Given the description of an element on the screen output the (x, y) to click on. 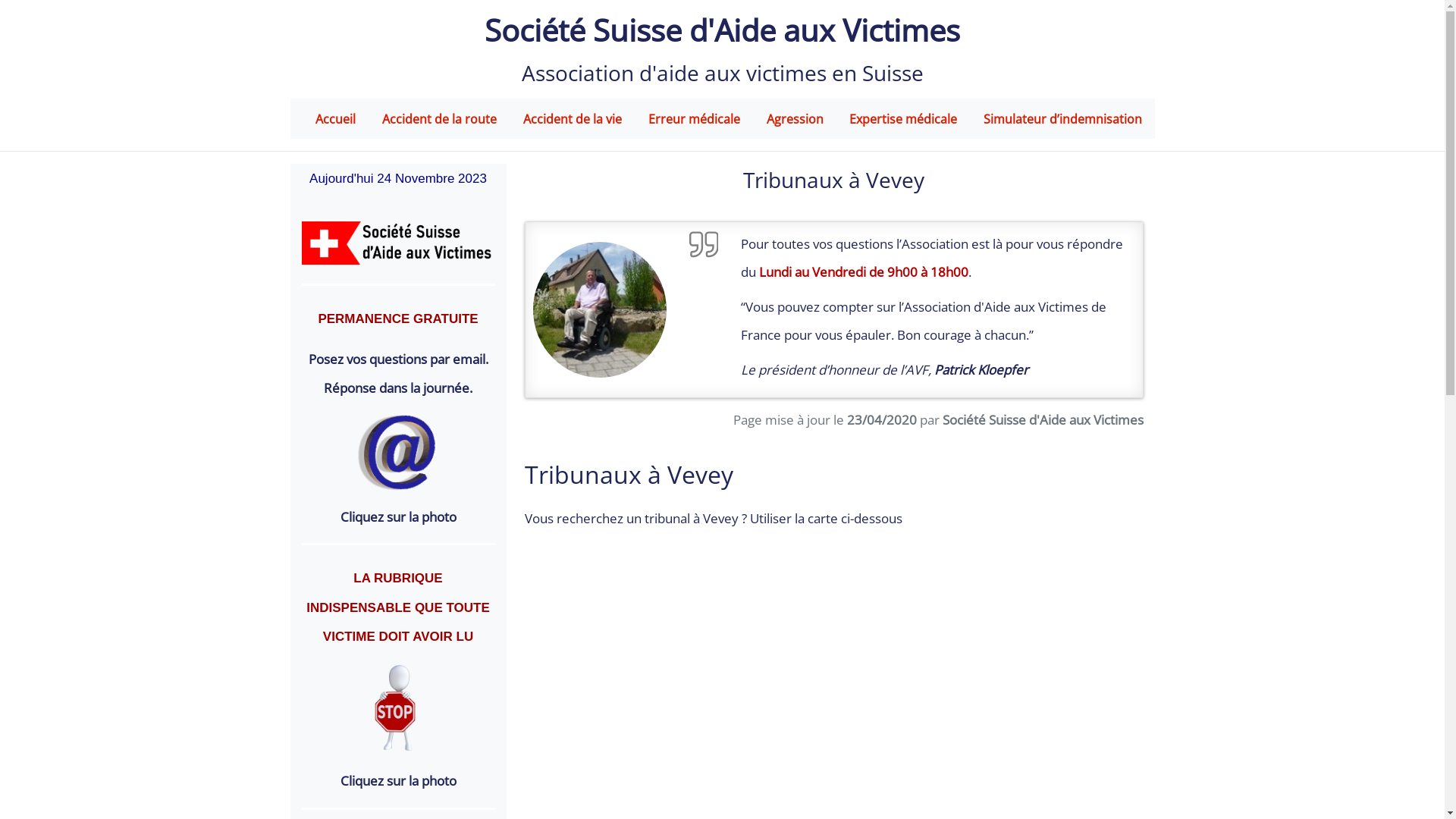
Accident de la route Element type: text (439, 118)
Accueil Element type: text (335, 118)
Accident de la vie Element type: text (572, 118)
Agression Element type: text (794, 118)
